Given the description of an element on the screen output the (x, y) to click on. 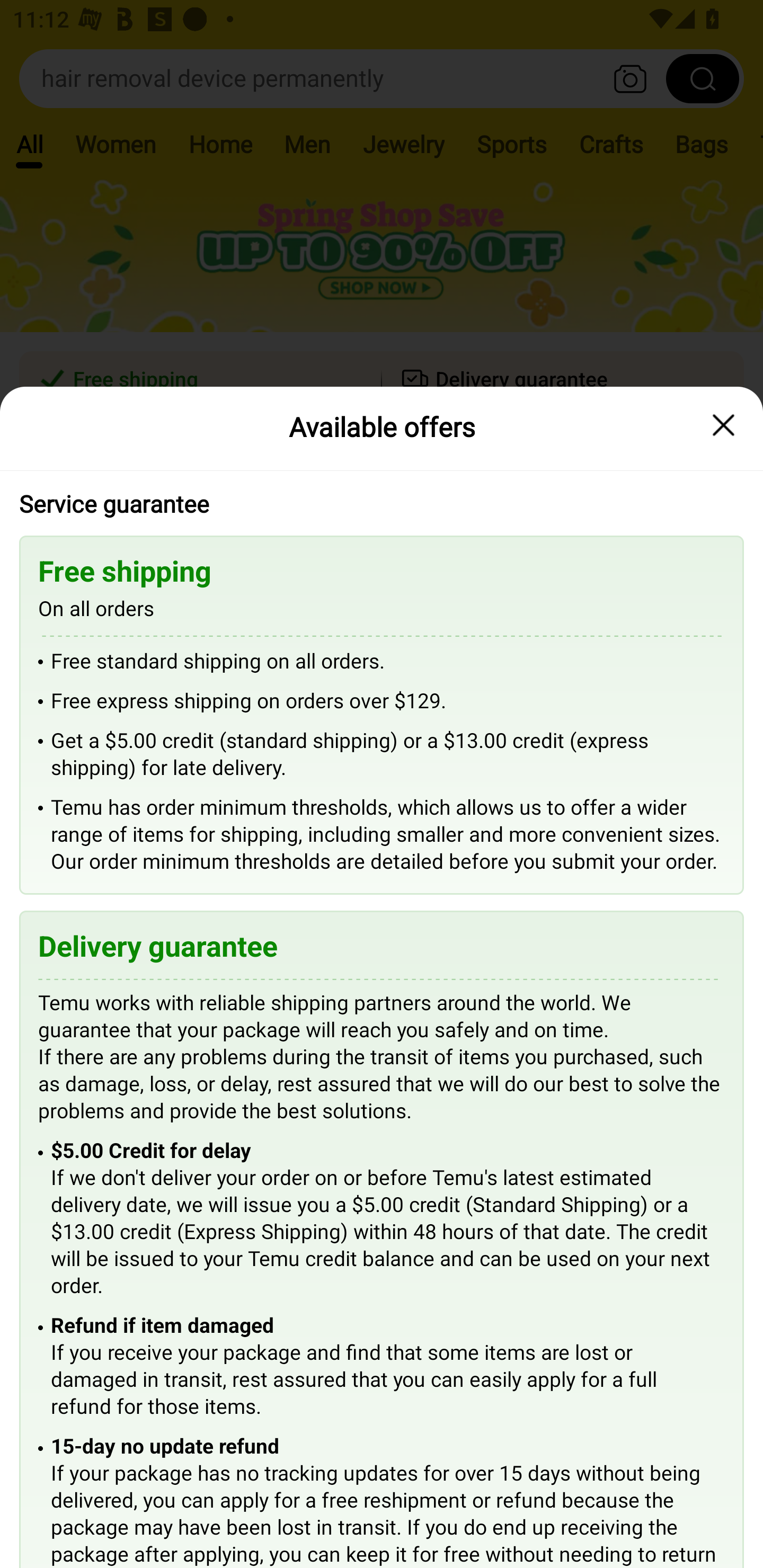
Lightning deals (379, 524)
